Given the description of an element on the screen output the (x, y) to click on. 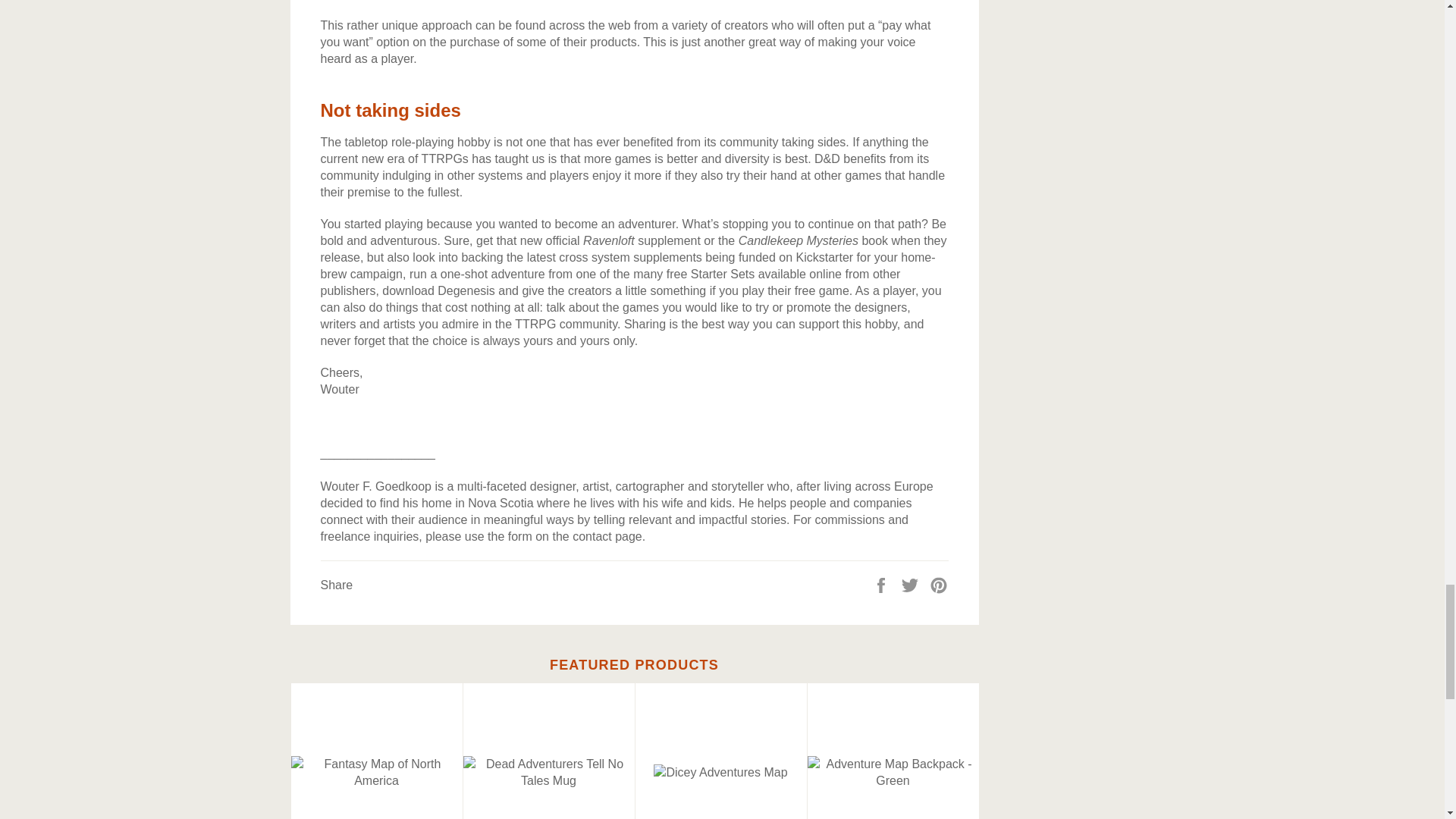
Tweet on Twitter (911, 584)
Share on Facebook (882, 584)
